Given the description of an element on the screen output the (x, y) to click on. 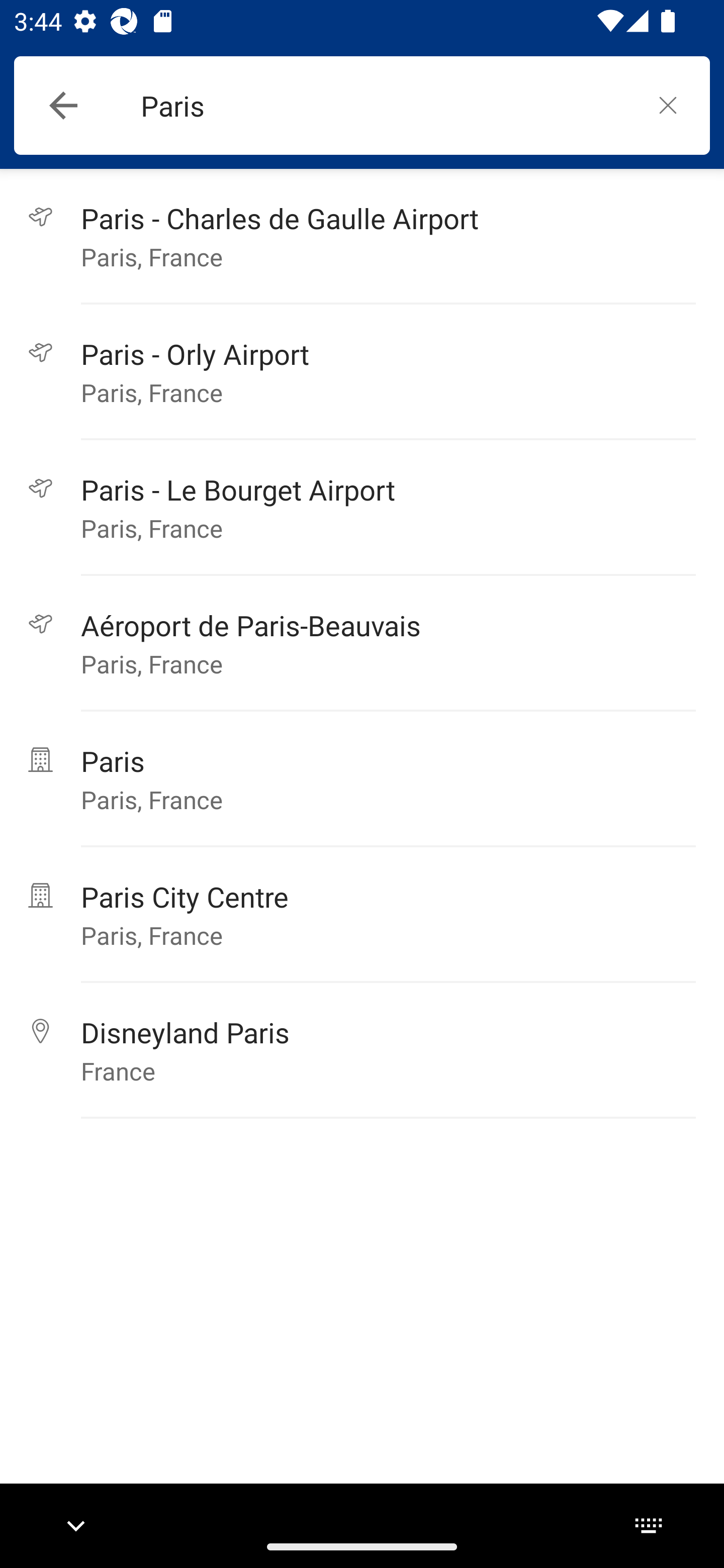
Navigate up (62, 105)
놕 (667, 104)
Paris (382, 105)
끭 Paris - Charles de Gaulle Airport Paris, France (362, 236)
끭 Paris - Orly Airport Paris, France (362, 372)
끭 Paris - Le Bourget Airport Paris, France (362, 507)
끭 Aéroport de Paris-Beauvais Paris, France (362, 643)
넭 Paris Paris, France (362, 778)
넭 Paris City Centre Paris, France (362, 914)
낍 Disneyland Paris France (362, 1050)
